Given the description of an element on the screen output the (x, y) to click on. 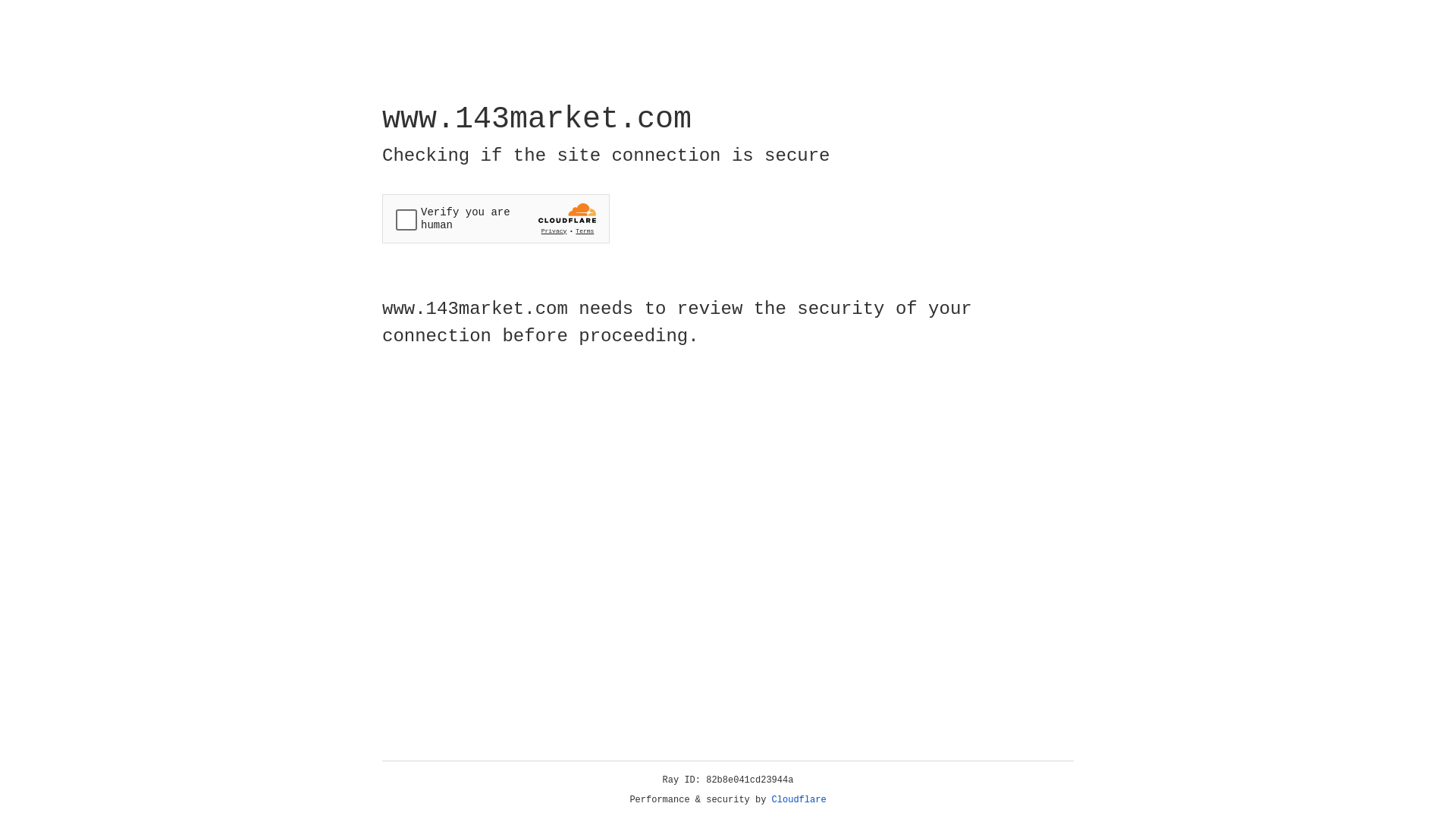
Widget containing a Cloudflare security challenge Element type: hover (495, 218)
Cloudflare Element type: text (798, 799)
